Given the description of an element on the screen output the (x, y) to click on. 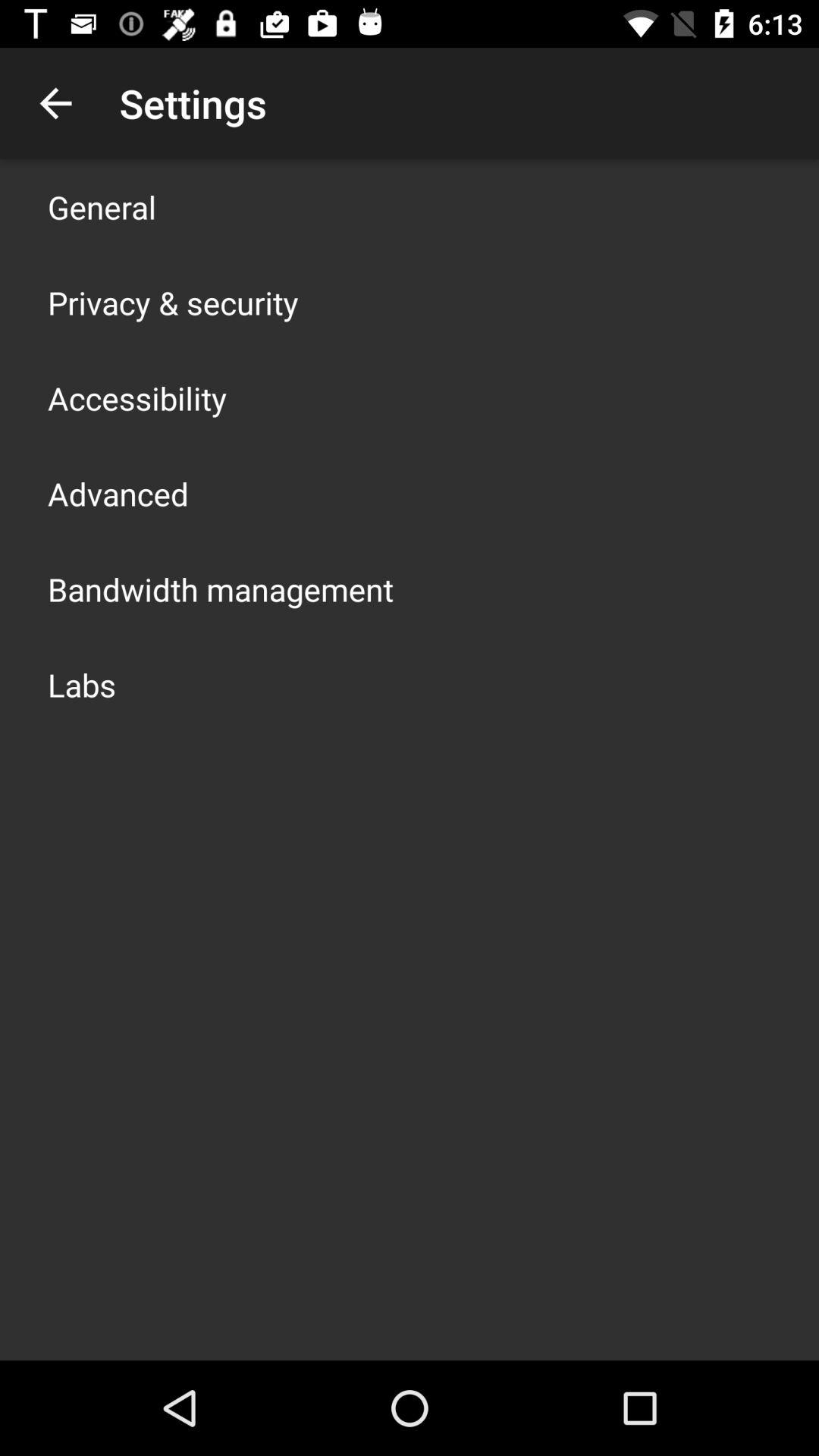
tap the item next to settings icon (55, 103)
